Given the description of an element on the screen output the (x, y) to click on. 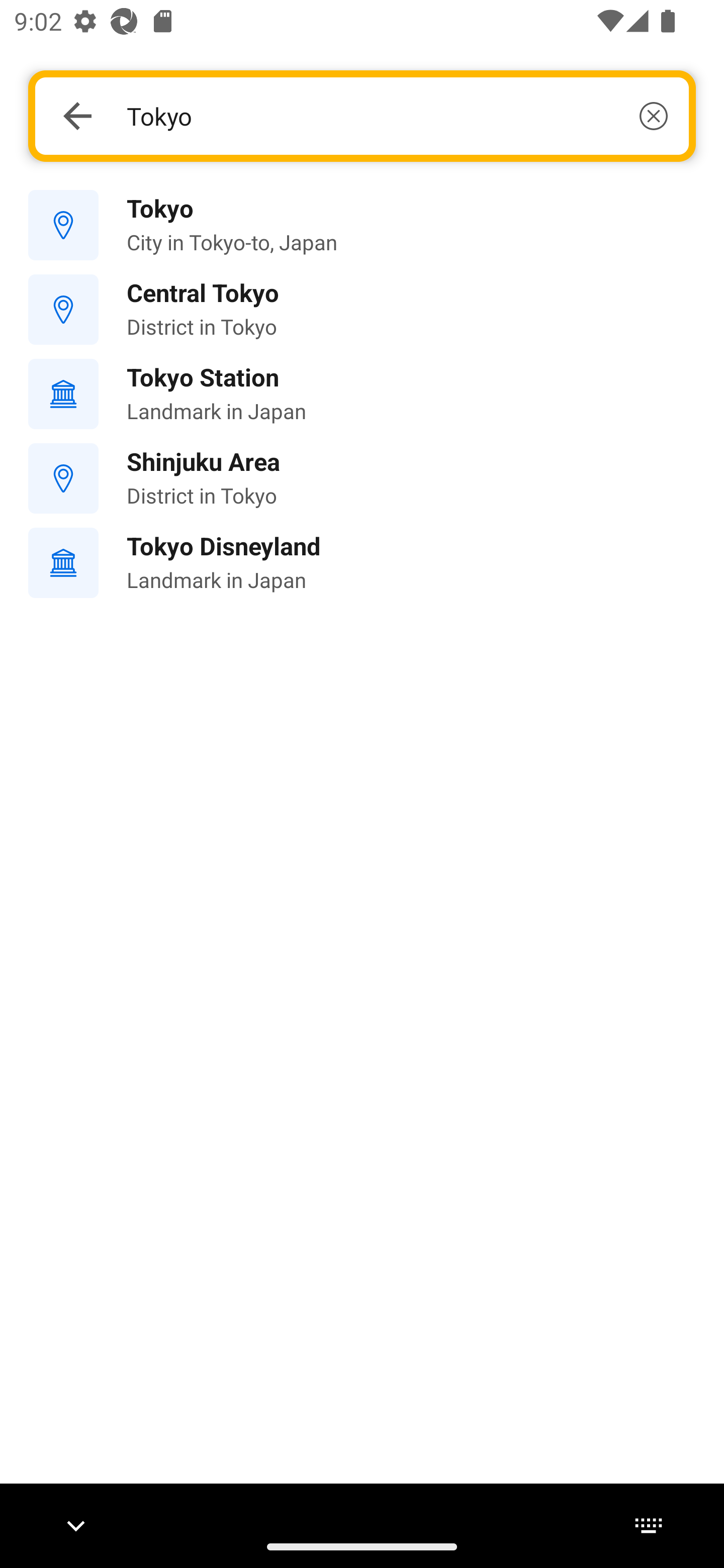
Tokyo (396, 115)
Tokyo City in Tokyo-to, Japan (362, 225)
Central Tokyo District in Tokyo (362, 309)
Tokyo Station Landmark in Japan (362, 393)
Shinjuku Area District in Tokyo (362, 477)
Tokyo Disneyland Landmark in Japan (362, 562)
